Given the description of an element on the screen output the (x, y) to click on. 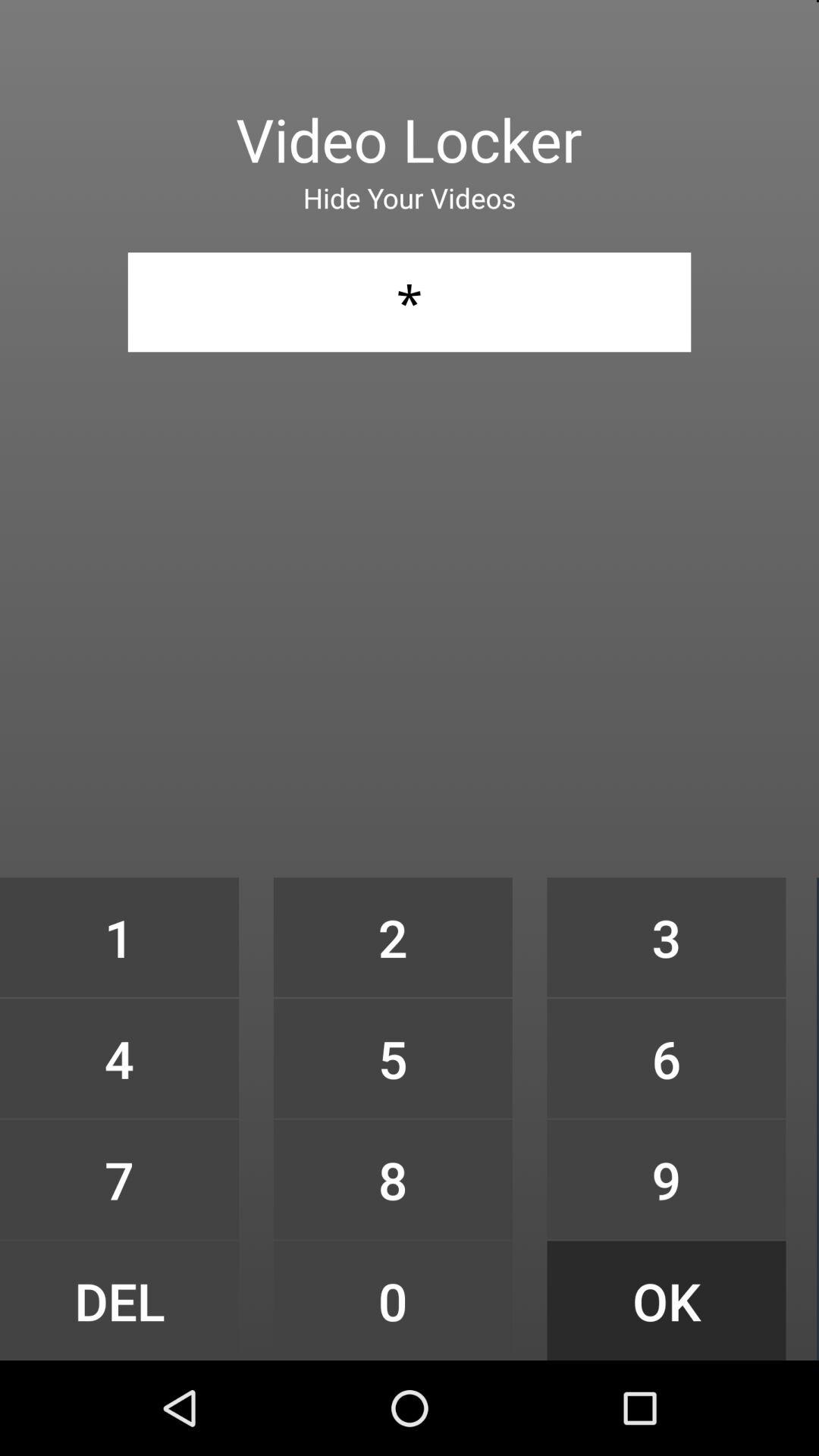
press the item next to 9 icon (392, 1300)
